Given the description of an element on the screen output the (x, y) to click on. 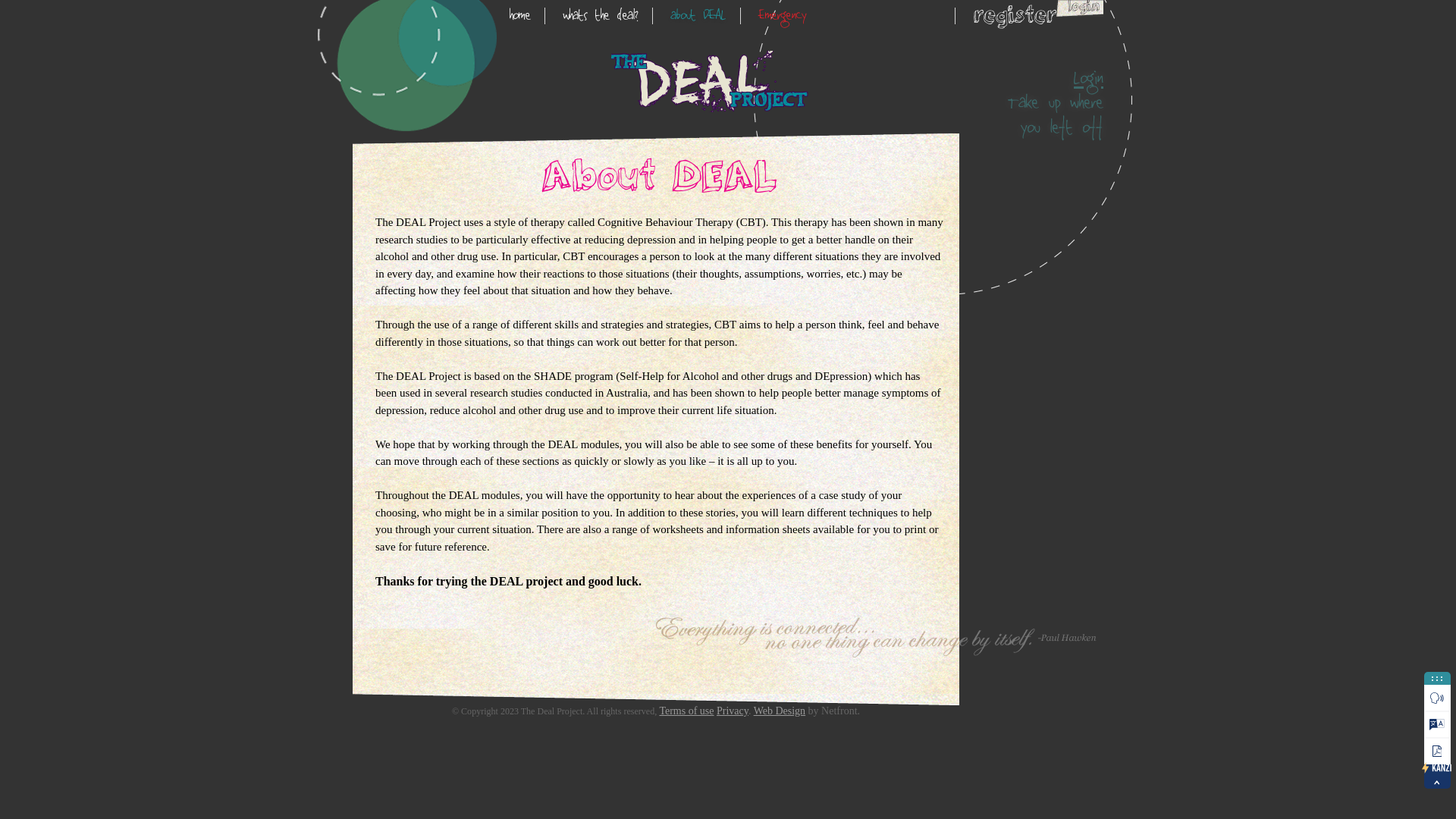
Terms of use Element type: text (685, 710)
Translate control Element type: hover (1437, 724)
Login
Take up where you left off Element type: text (1042, 101)
whats the deal? Element type: text (600, 15)
Download pdf Element type: hover (1437, 750)
about DEAL Element type: text (698, 15)
Web Design Element type: text (779, 710)
home Element type: text (519, 15)
Play Element type: hover (1437, 697)
Expand Element type: hover (1437, 782)
Privacy Element type: text (732, 710)
login Element type: text (1079, 9)
Emergency Element type: text (782, 15)
register Element type: text (1014, 15)
